Given the description of an element on the screen output the (x, y) to click on. 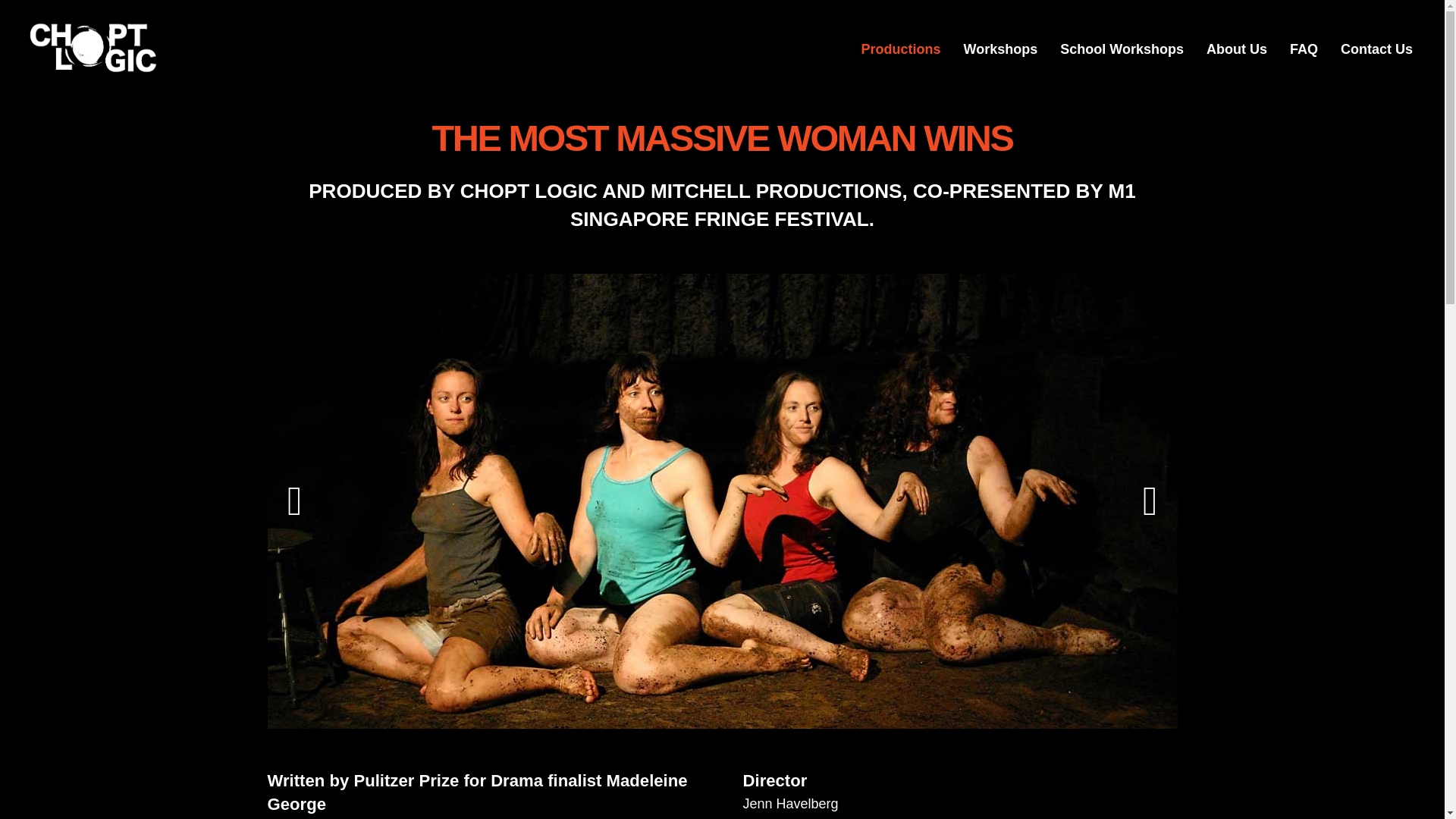
FAQ (1303, 49)
School Workshops (1121, 49)
Productions (901, 49)
About Us (1236, 49)
Workshops (1000, 49)
Contact Us (1376, 49)
